Given the description of an element on the screen output the (x, y) to click on. 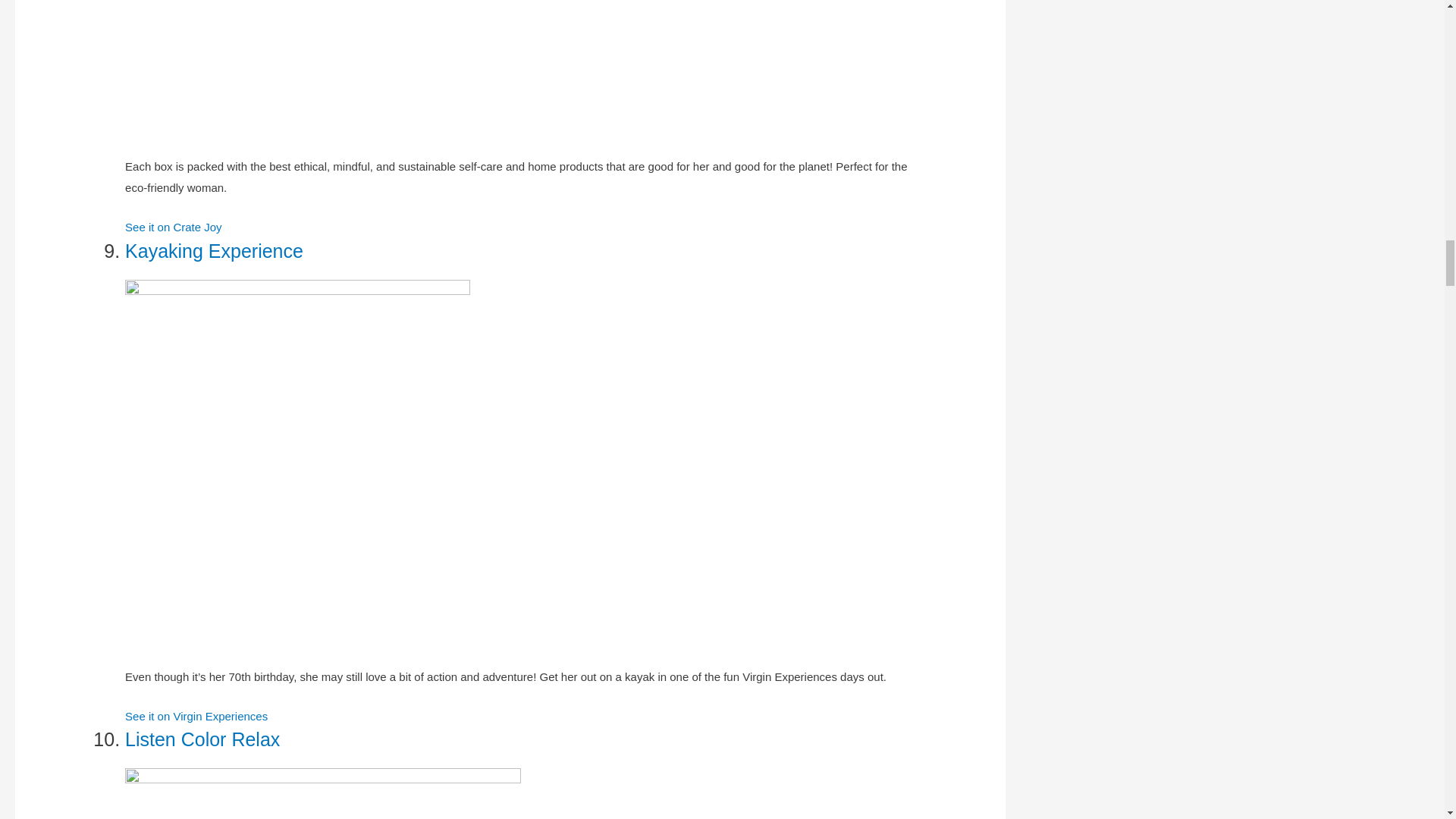
See it on Crate Joy (173, 226)
See it on Virgin Experiences (196, 716)
Kayaking Experience (213, 250)
